Given the description of an element on the screen output the (x, y) to click on. 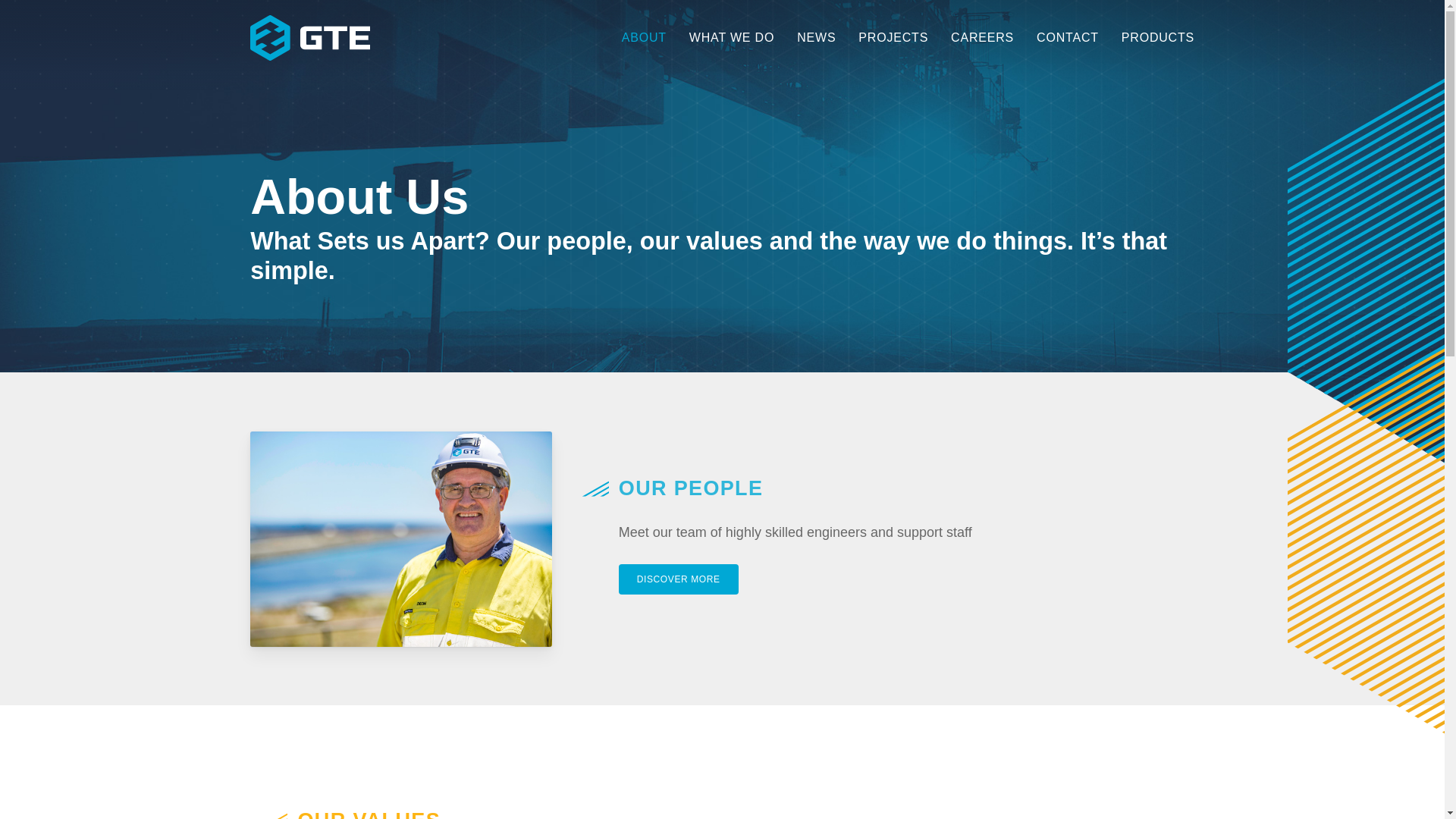
OUR PEOPLE Element type: text (690, 487)
CAREERS Element type: text (982, 37)
PROJECTS Element type: text (893, 37)
WHAT WE DO Element type: text (731, 37)
CONTACT Element type: text (1067, 37)
PRODUCTS Element type: text (1152, 37)
DISCOVER MORE Element type: text (678, 579)
NEWS Element type: text (816, 37)
ABOUT Element type: text (643, 37)
